Given the description of an element on the screen output the (x, y) to click on. 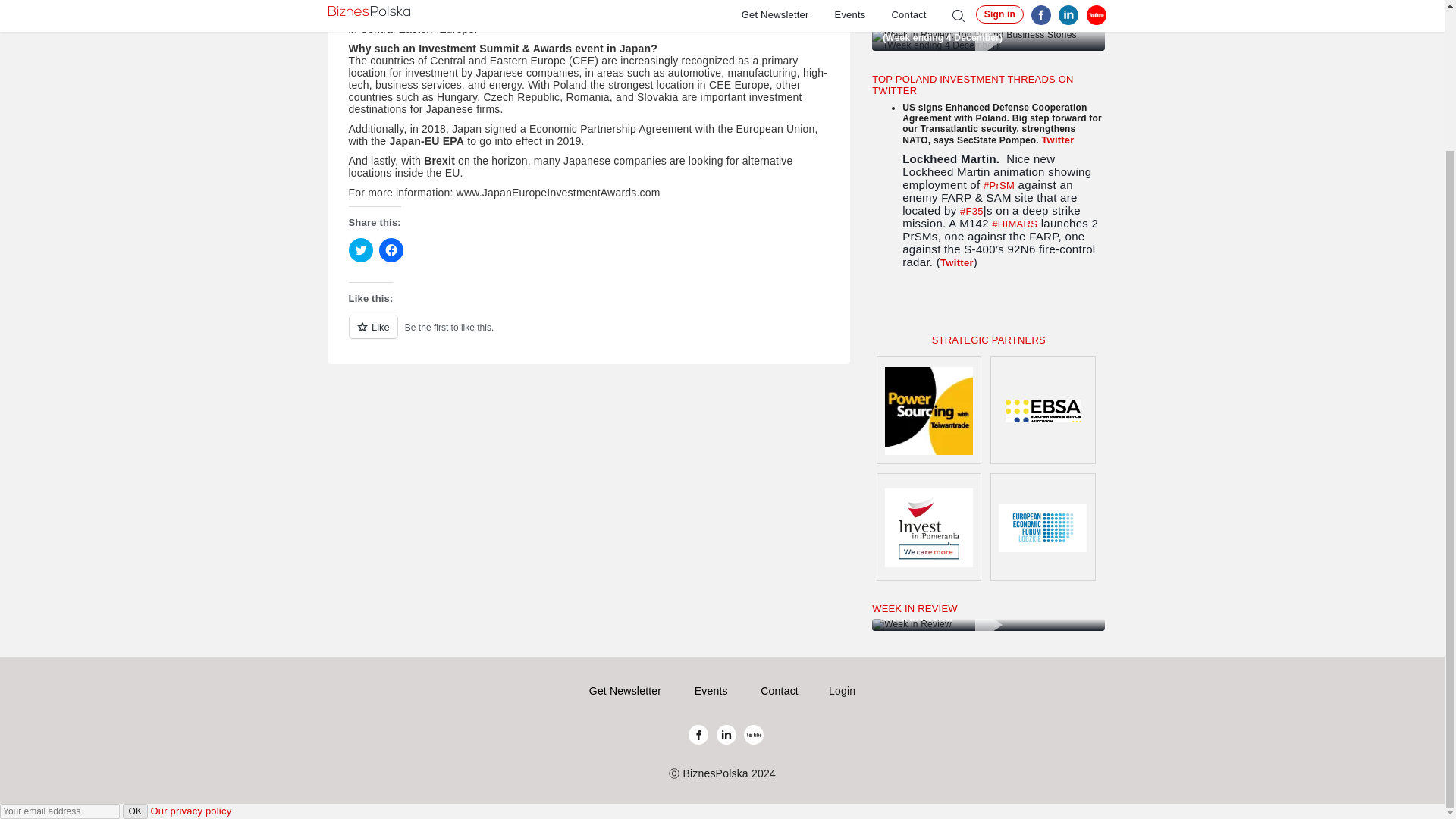
Contact (778, 690)
Click to share on Twitter (360, 250)
Events (711, 690)
Get Newsletter (625, 690)
Get Newsletter (625, 690)
Like or Reblog (589, 335)
Contact (778, 690)
Login (841, 690)
Twitter (957, 262)
Twitter (1057, 139)
Week in Review (988, 624)
Click to share on Facebook (390, 250)
SIGN UP (911, 306)
Events (711, 690)
